Given the description of an element on the screen output the (x, y) to click on. 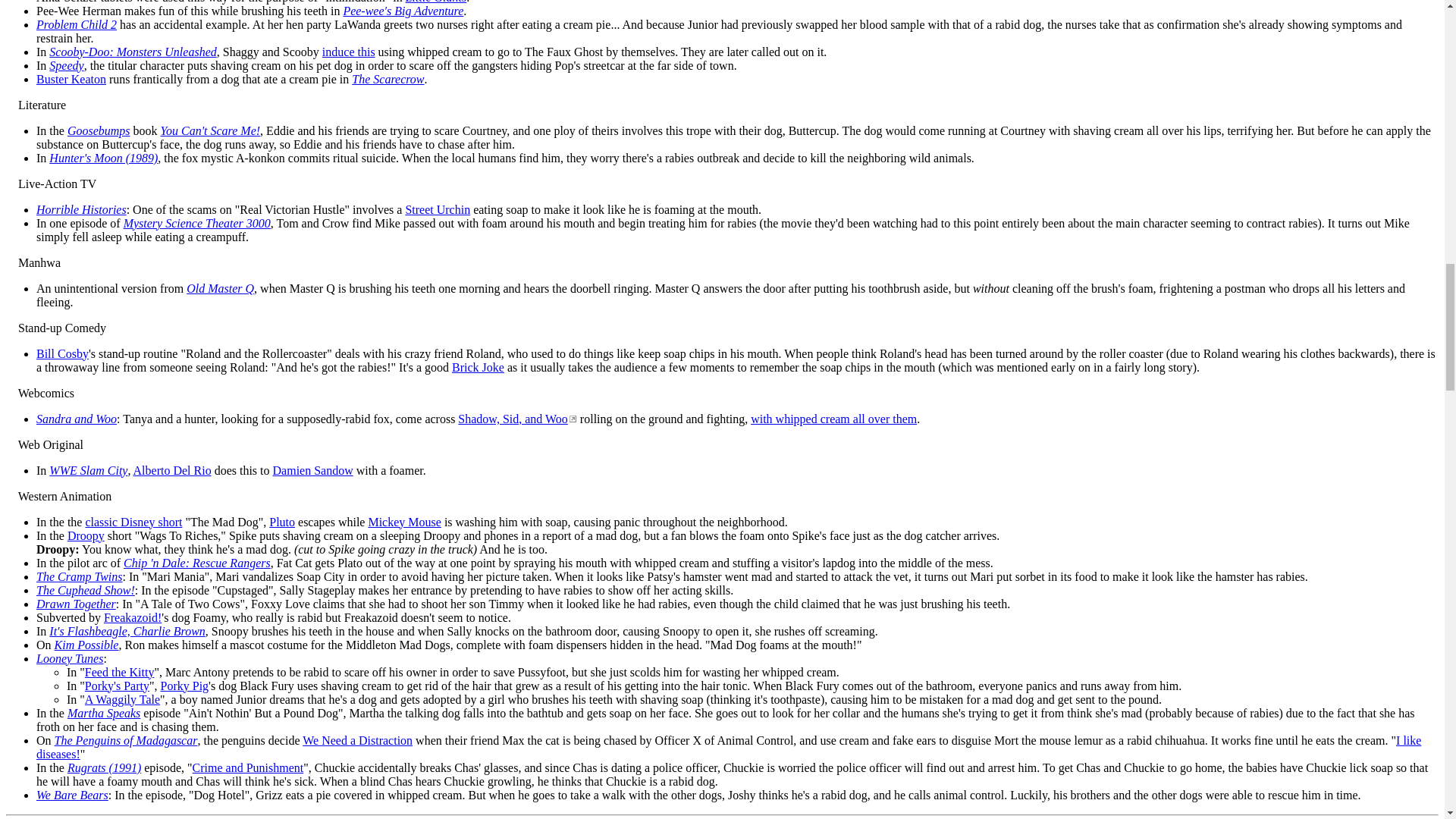
non-wikiword (357, 24)
